Given the description of an element on the screen output the (x, y) to click on. 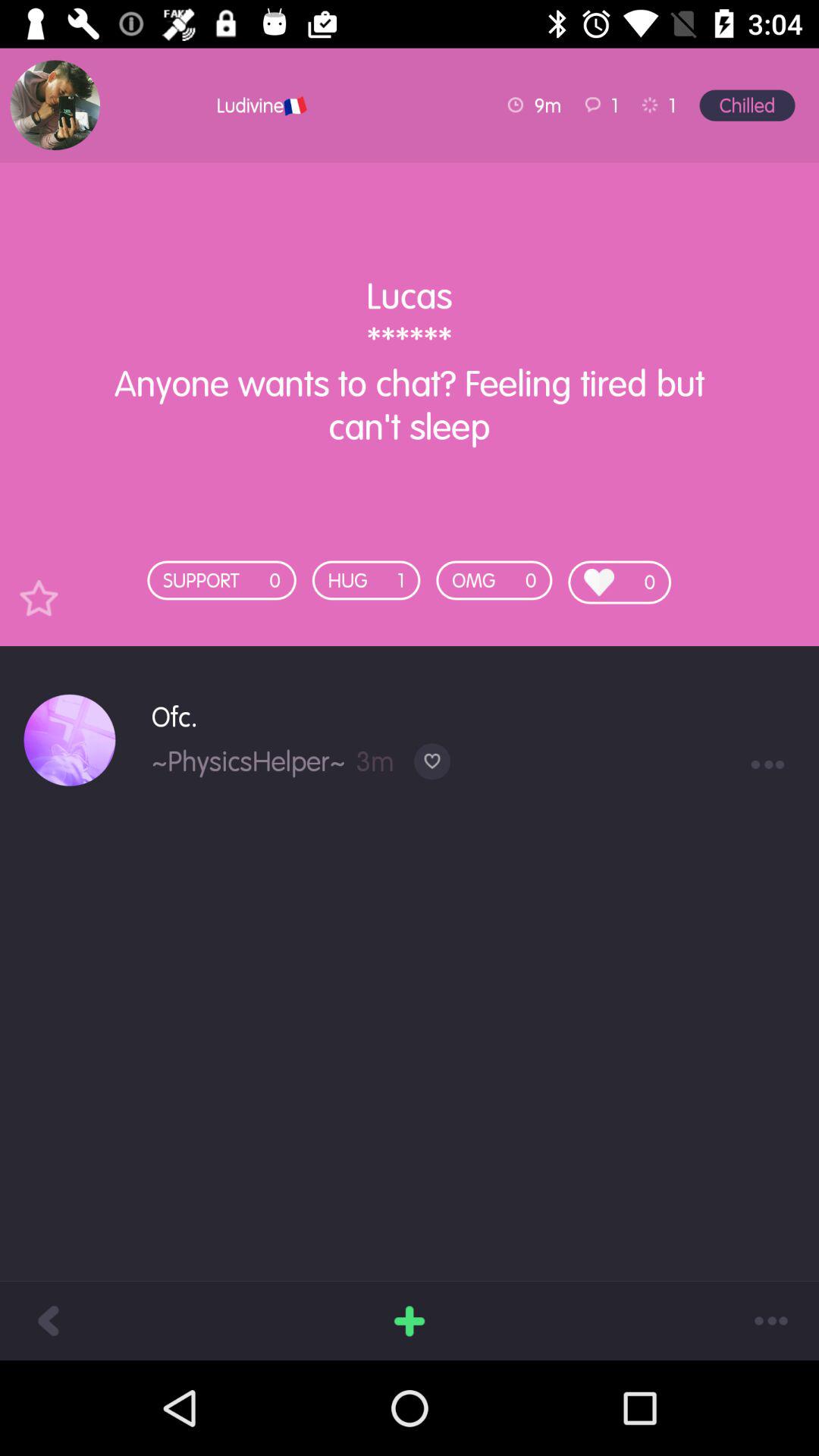
turn on icon next to ofc. icon (69, 740)
